Given the description of an element on the screen output the (x, y) to click on. 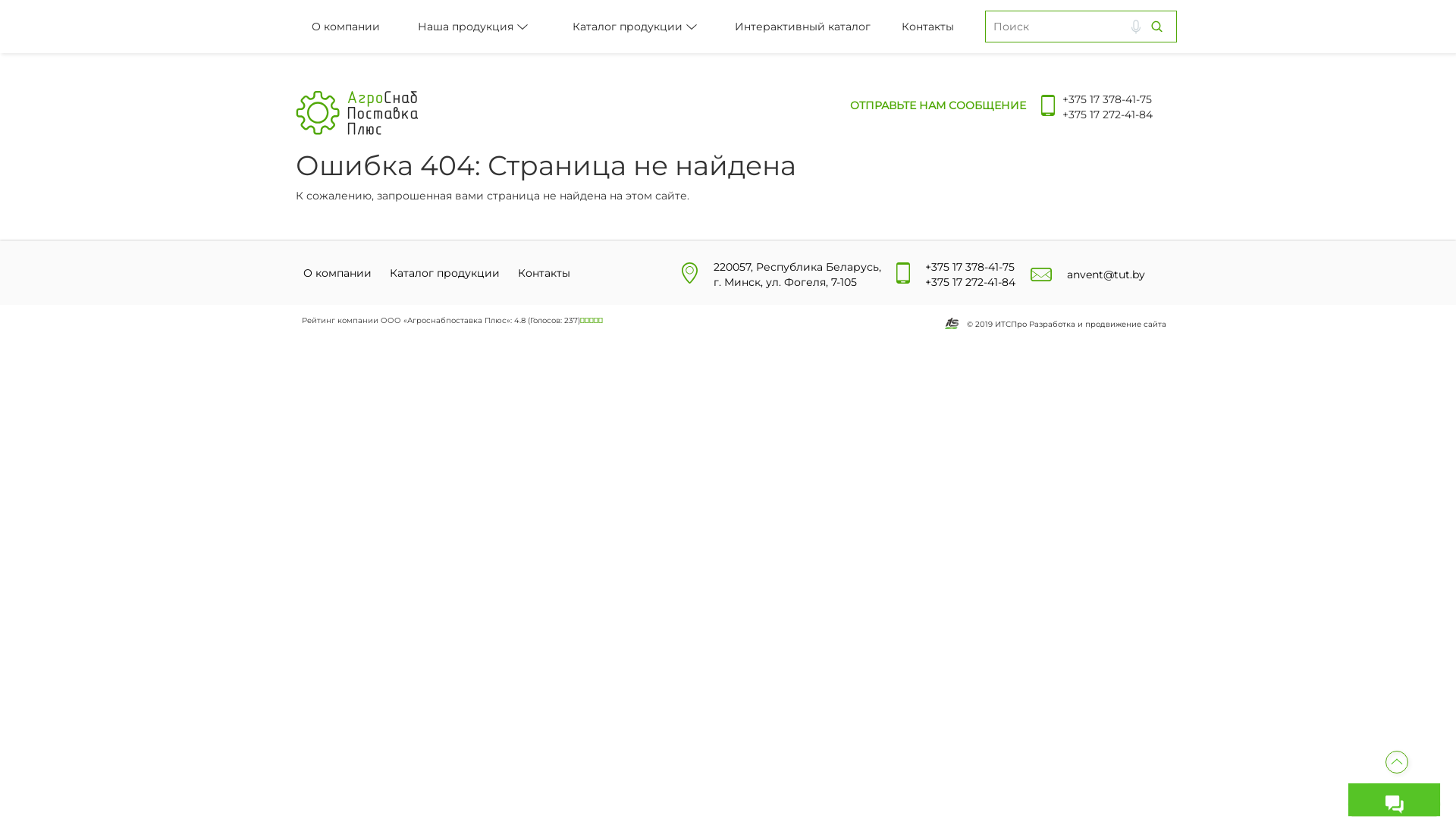
+375 17 378-41-75 Element type: text (969, 266)
+375 17 378-41-75 Element type: text (1106, 98)
anvent@tut.by Element type: text (1105, 274)
+375 17 272-41-84 Element type: text (1107, 114)
+375 17 272-41-84 Element type: text (969, 281)
